Given the description of an element on the screen output the (x, y) to click on. 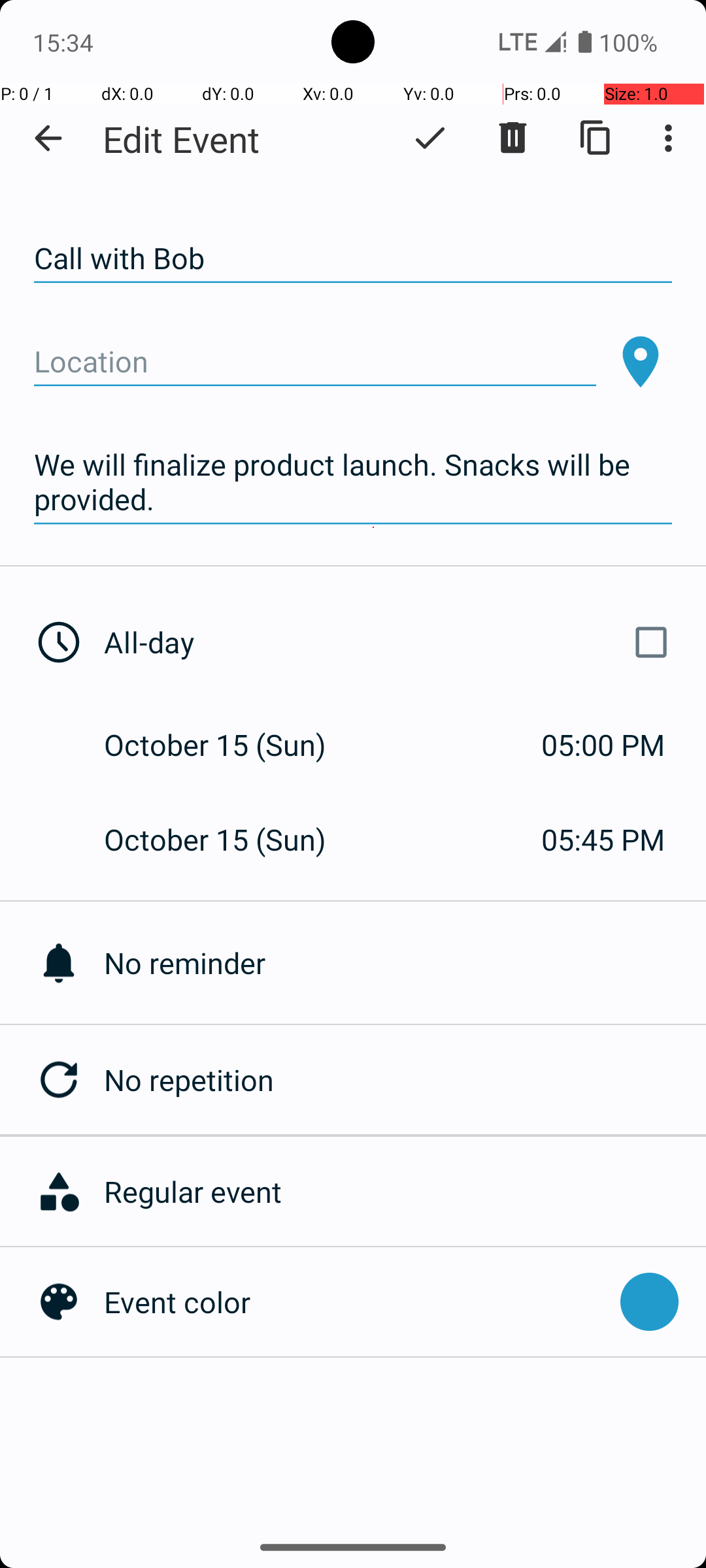
Call with Bob Element type: android.widget.EditText (352, 258)
We will finalize product launch. Snacks will be provided. Element type: android.widget.EditText (352, 482)
05:00 PM Element type: android.widget.TextView (602, 744)
05:45 PM Element type: android.widget.TextView (602, 838)
